Given the description of an element on the screen output the (x, y) to click on. 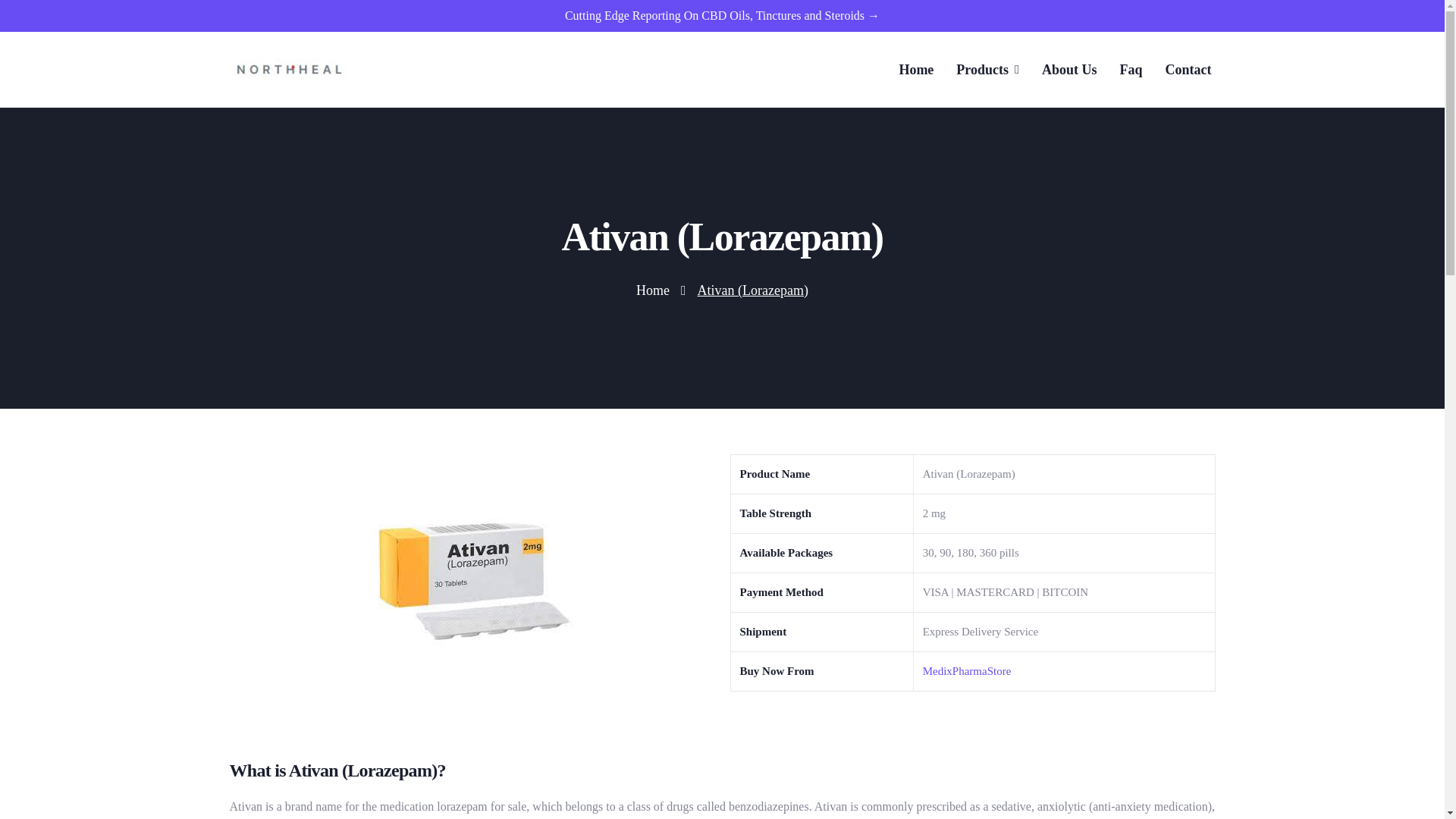
Home (652, 290)
Products (987, 69)
MedixPharmaStore (967, 670)
